Given the description of an element on the screen output the (x, y) to click on. 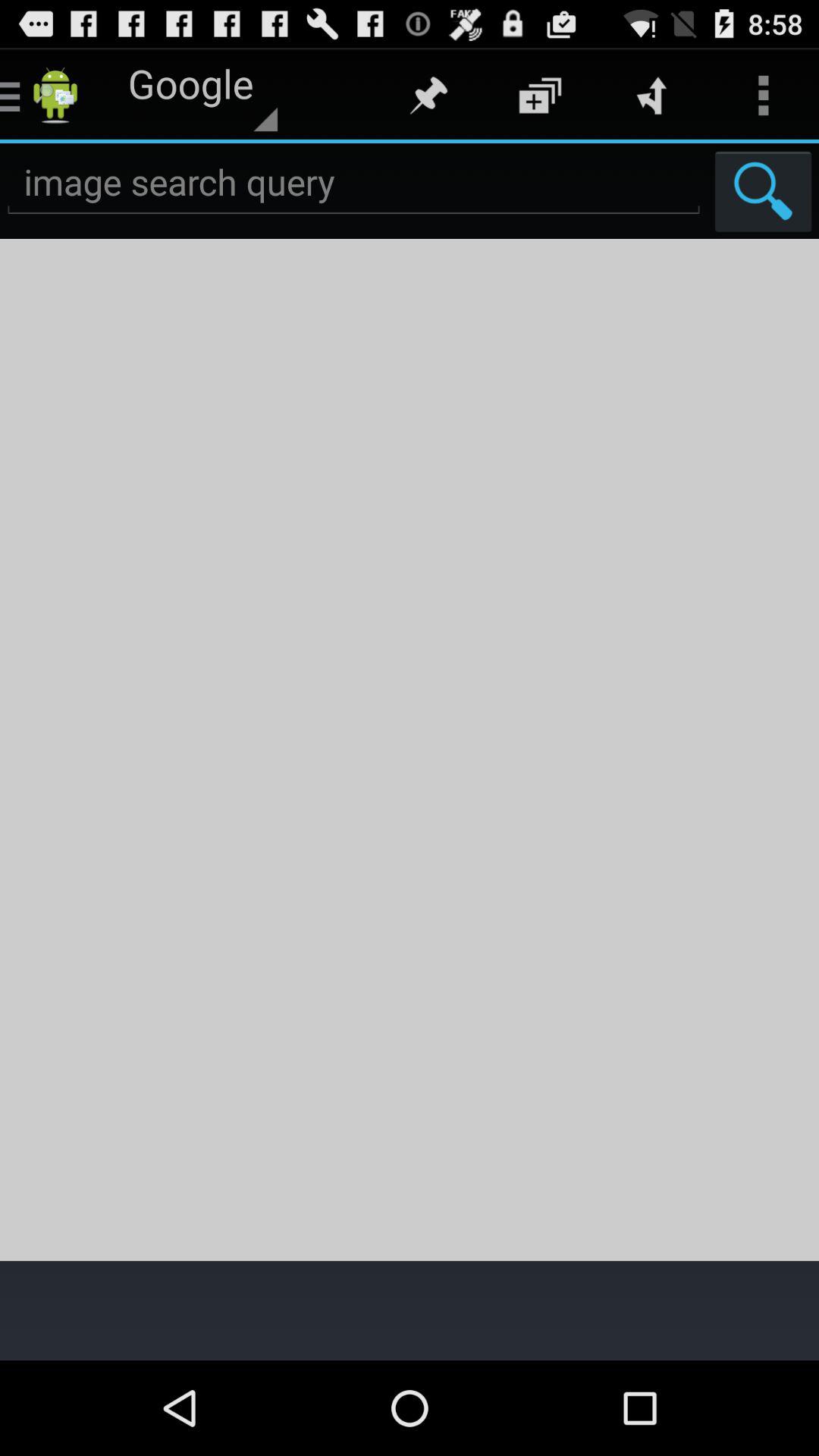
toggle image search (353, 182)
